Given the description of an element on the screen output the (x, y) to click on. 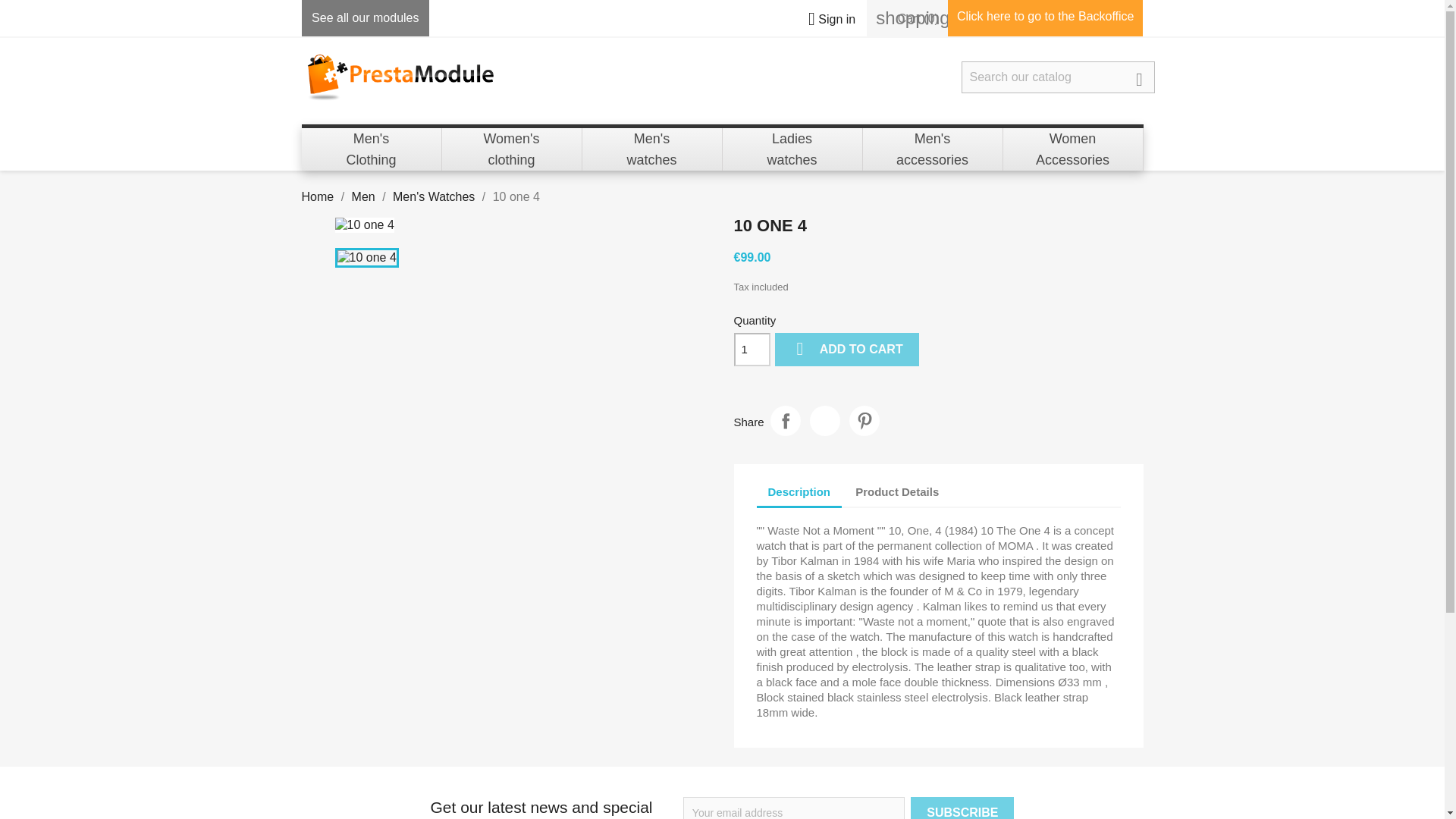
Men (363, 196)
Subscribe (962, 807)
See all our modules (365, 17)
Click here to go to the Backoffice (510, 148)
Tweet (1045, 15)
Share (824, 420)
Home (785, 420)
Subscribe (317, 196)
Description (371, 148)
Product Details (510, 148)
